Given the description of an element on the screen output the (x, y) to click on. 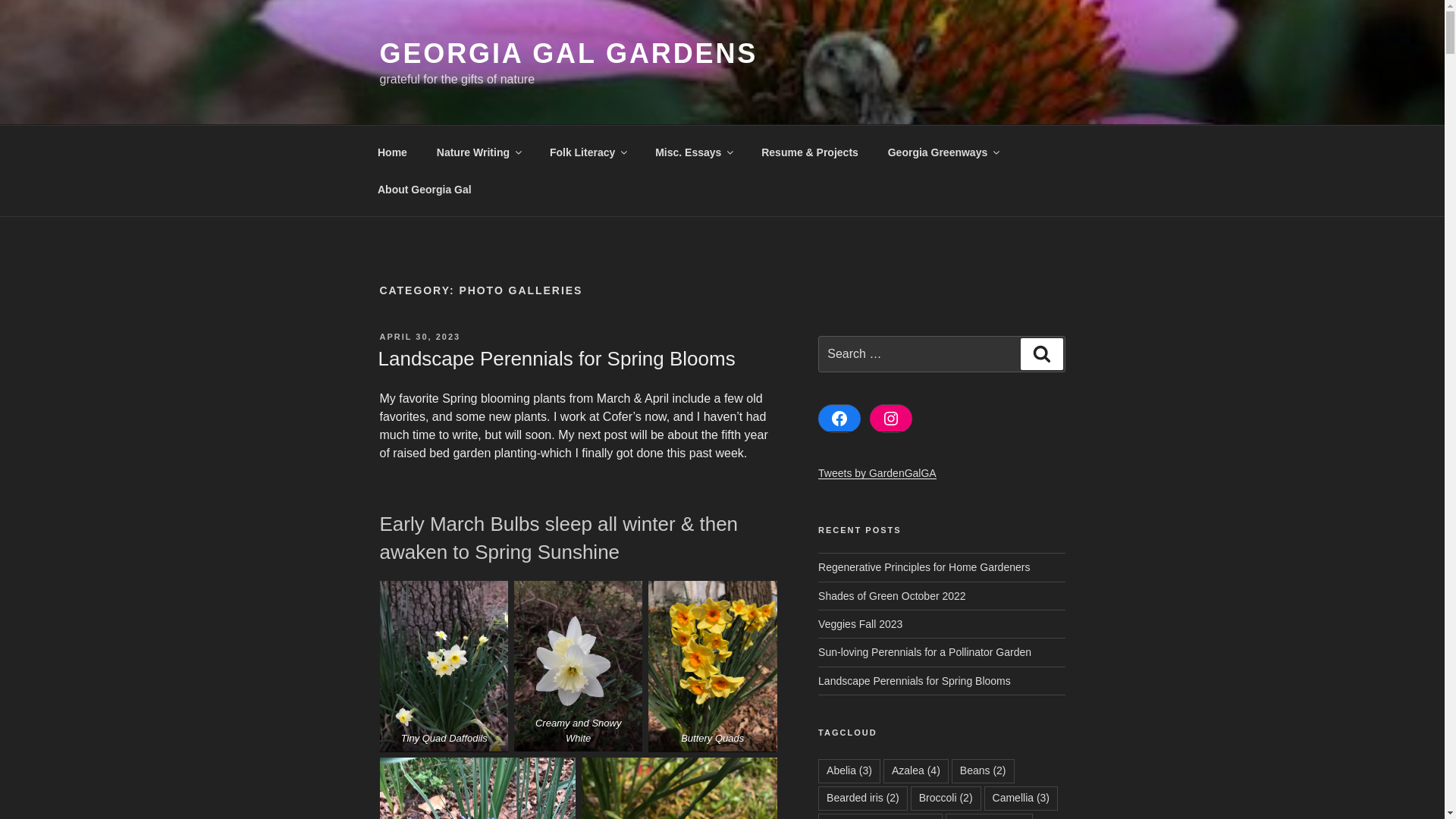
Home (392, 151)
Misc. Essays (693, 151)
Folk Literacy (587, 151)
Georgia Greenways (943, 151)
Landscape Perennials for Spring Blooms (556, 358)
GEORGIA GAL GARDENS (567, 52)
APRIL 30, 2023 (419, 336)
Nature Writing (477, 151)
About Georgia Gal (424, 189)
